Given the description of an element on the screen output the (x, y) to click on. 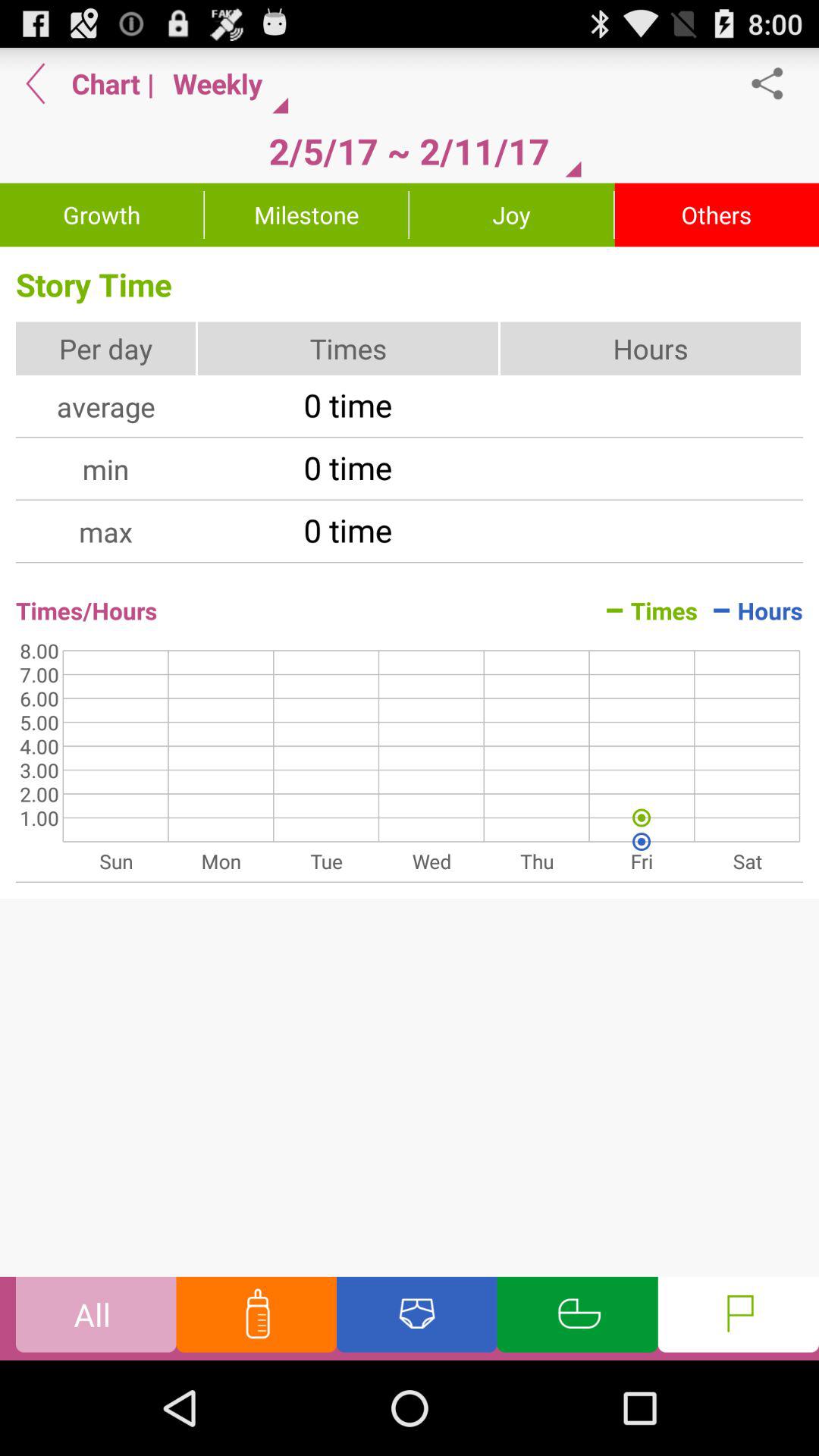
choose the 2 5 17 item (409, 151)
